Given the description of an element on the screen output the (x, y) to click on. 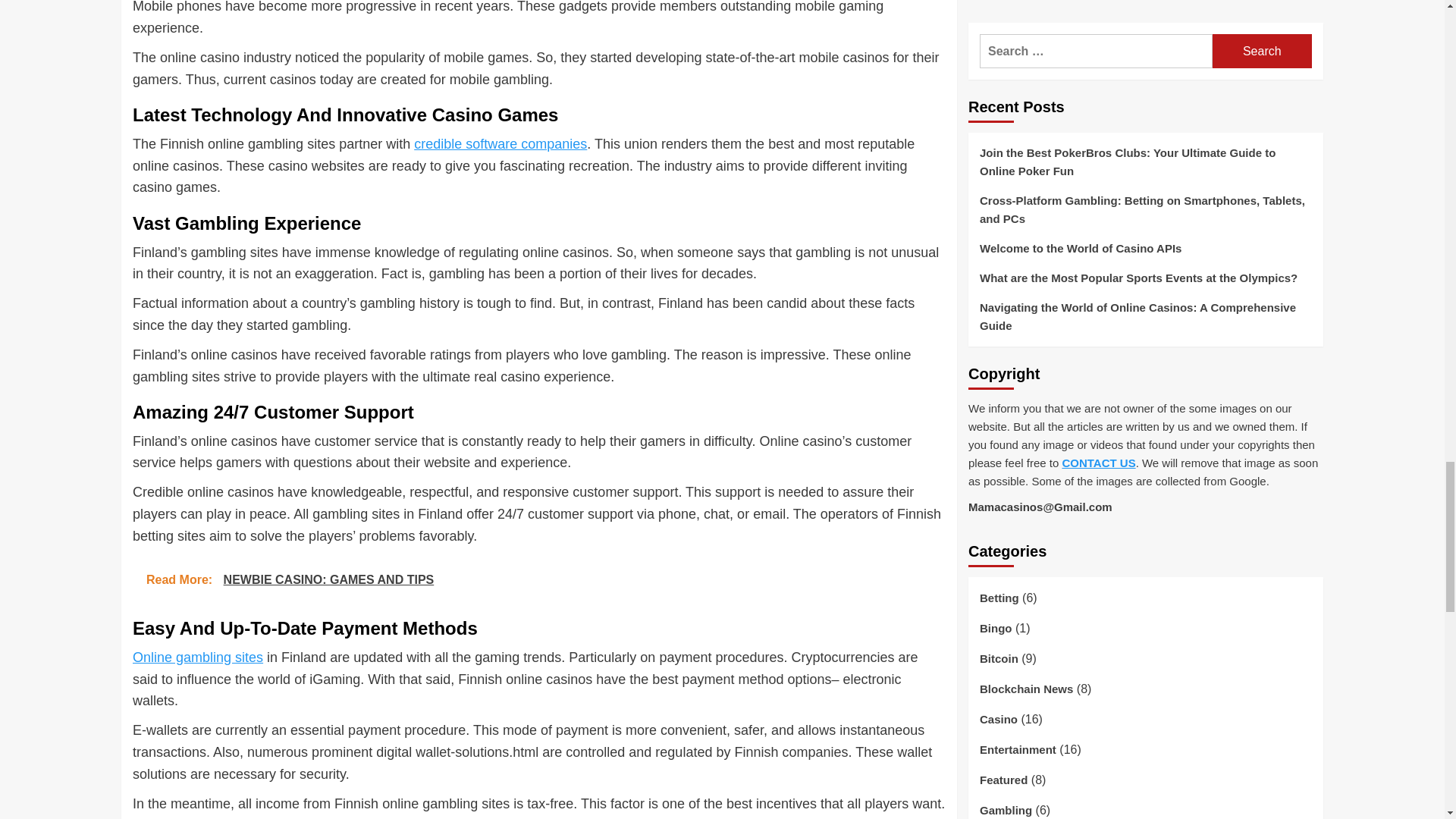
Online gambling sites (197, 657)
credible software companies (499, 143)
Read More:   NEWBIE CASINO: GAMES AND TIPS (538, 579)
